Given the description of an element on the screen output the (x, y) to click on. 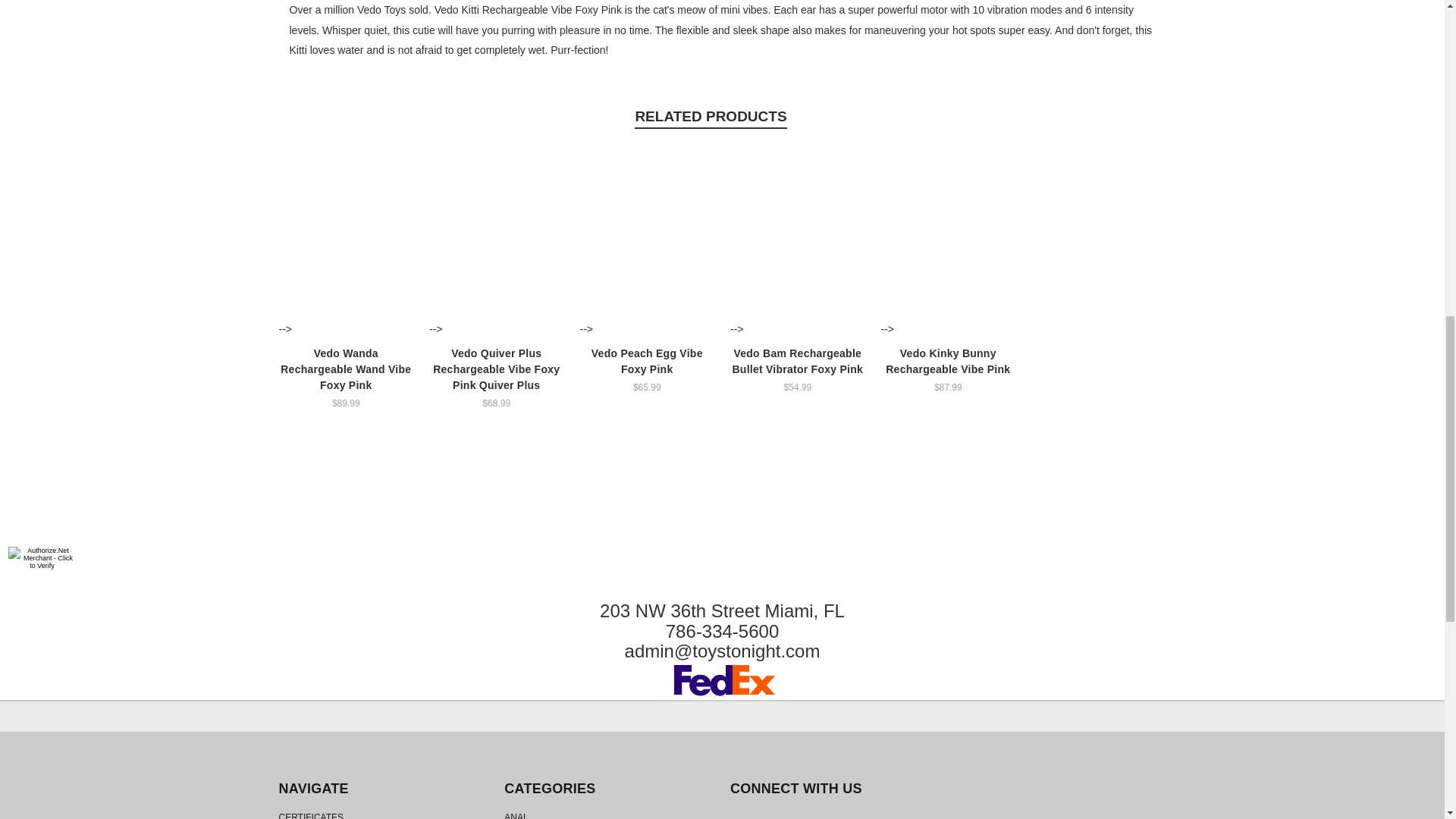
Vedo Peach Egg Vibe Foxy Pink Image0 (646, 240)
Vedo Bam Rechargeable Bullet Vibrator Foxy Pink Image0 (797, 240)
